Given the description of an element on the screen output the (x, y) to click on. 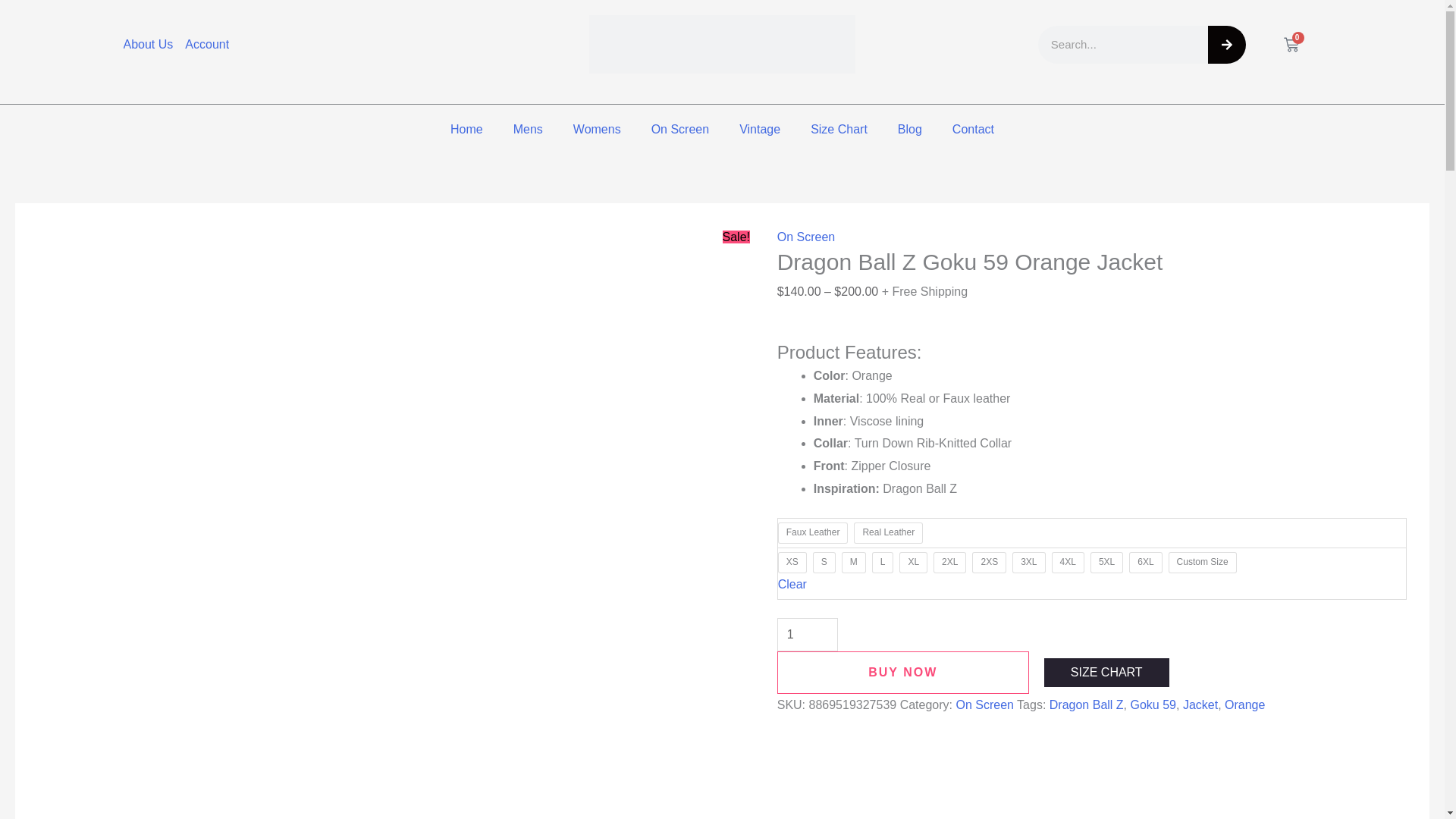
Account (206, 44)
Womens (596, 129)
Vintage (758, 129)
Blog (909, 129)
About Us (147, 44)
Mens (527, 129)
Contact (973, 129)
Search (1225, 44)
On Screen (679, 129)
Home (466, 129)
